Given the description of an element on the screen output the (x, y) to click on. 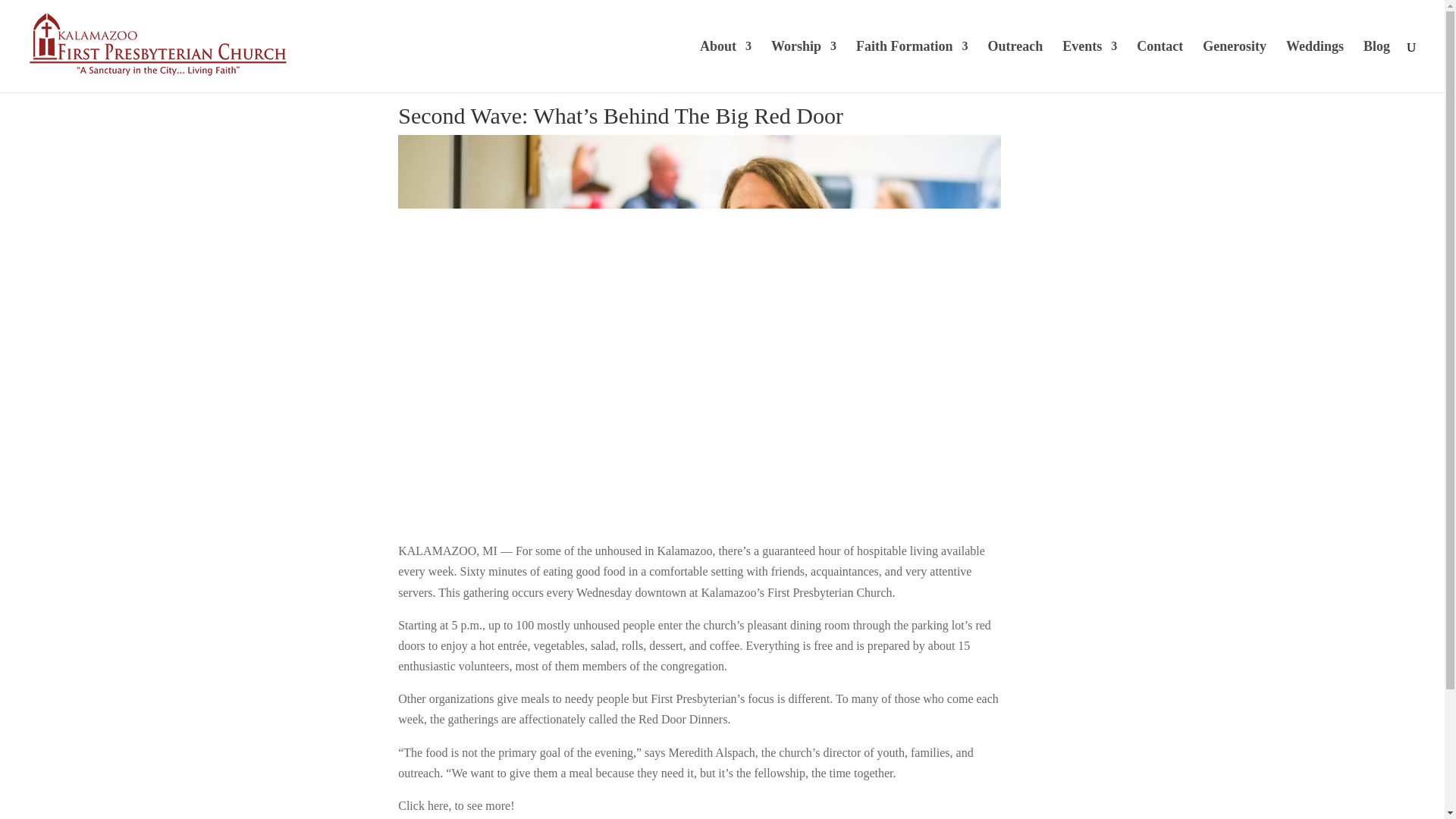
Outreach (1015, 66)
About (725, 66)
Generosity (1234, 66)
Worship (803, 66)
Events (1089, 66)
Faith Formation (912, 66)
Weddings (1314, 66)
Contact (1159, 66)
